Given the description of an element on the screen output the (x, y) to click on. 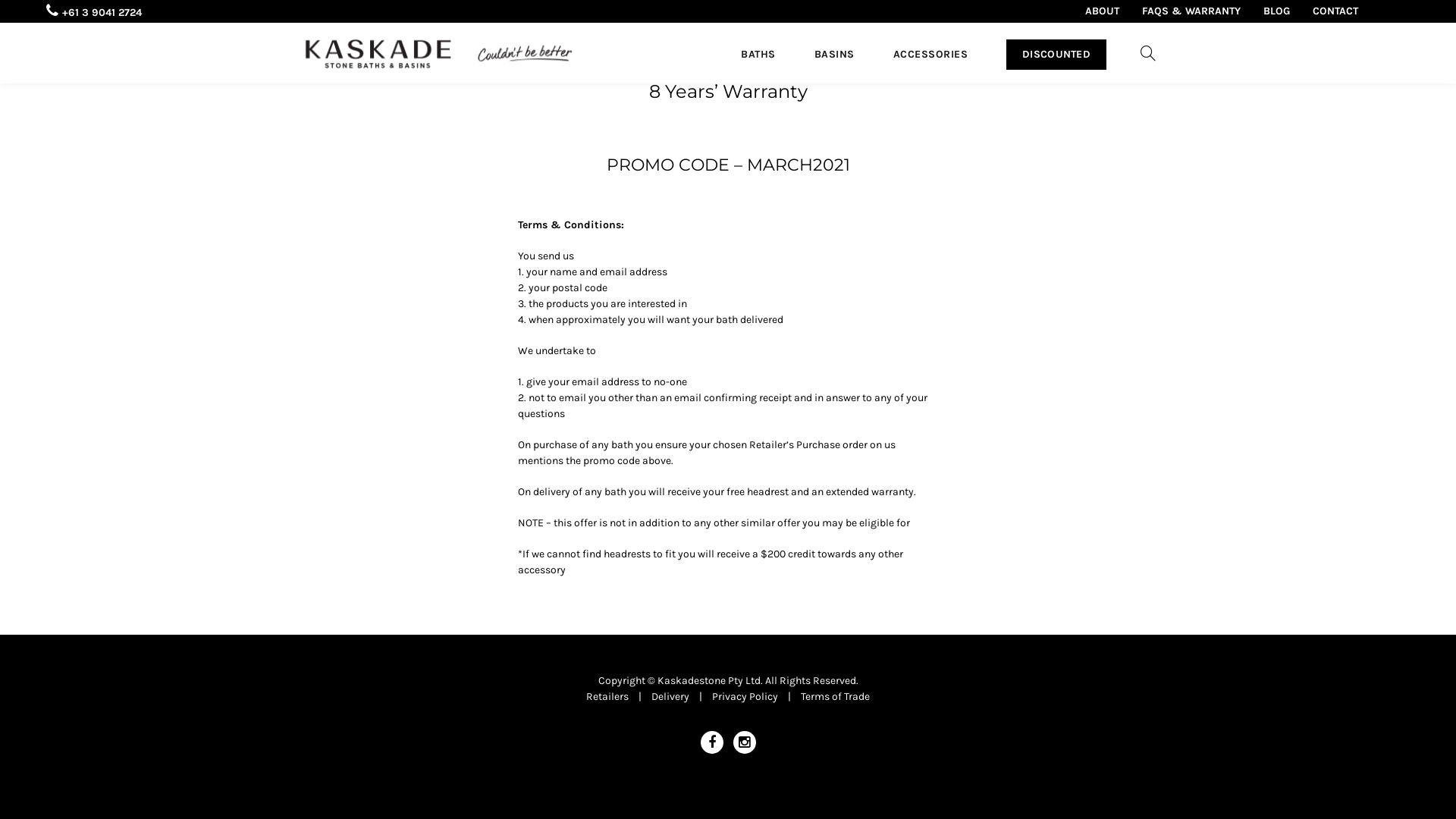
BASINS Element type: text (834, 54)
Privacy Policy Element type: text (744, 696)
Delivery Element type: text (669, 696)
DISCOUNTED Element type: text (1056, 54)
Retailers Element type: text (607, 696)
Terms of Trade Element type: text (835, 696)
BATHS Element type: text (757, 54)
ACCESSORIES Element type: text (930, 54)
DISCOUNTED Element type: text (1056, 51)
+61 3 9041 2724 Element type: text (93, 11)
